Given the description of an element on the screen output the (x, y) to click on. 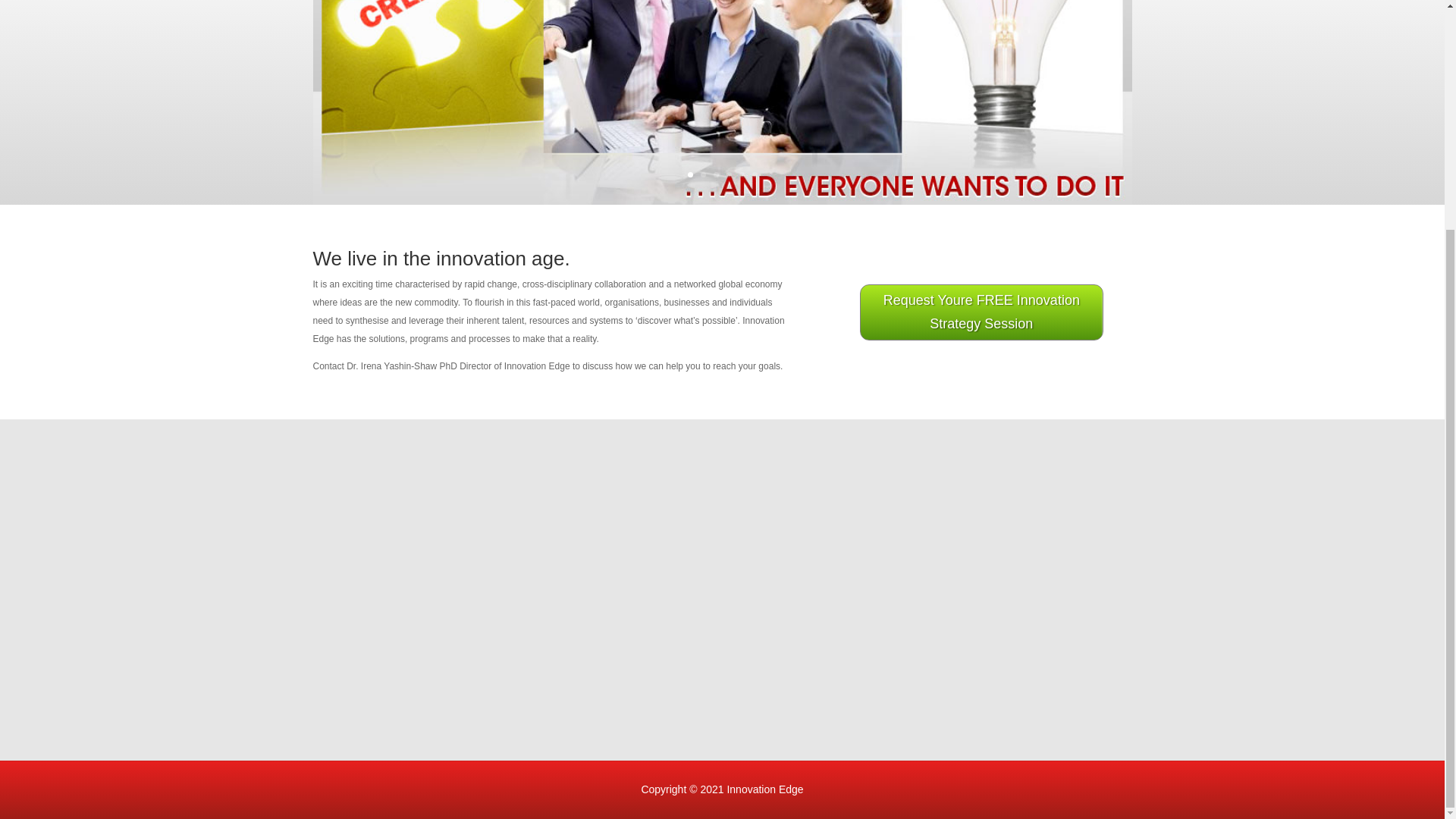
Dr. Irena Yashin-Shaw - Show Reel (937, 589)
